Given the description of an element on the screen output the (x, y) to click on. 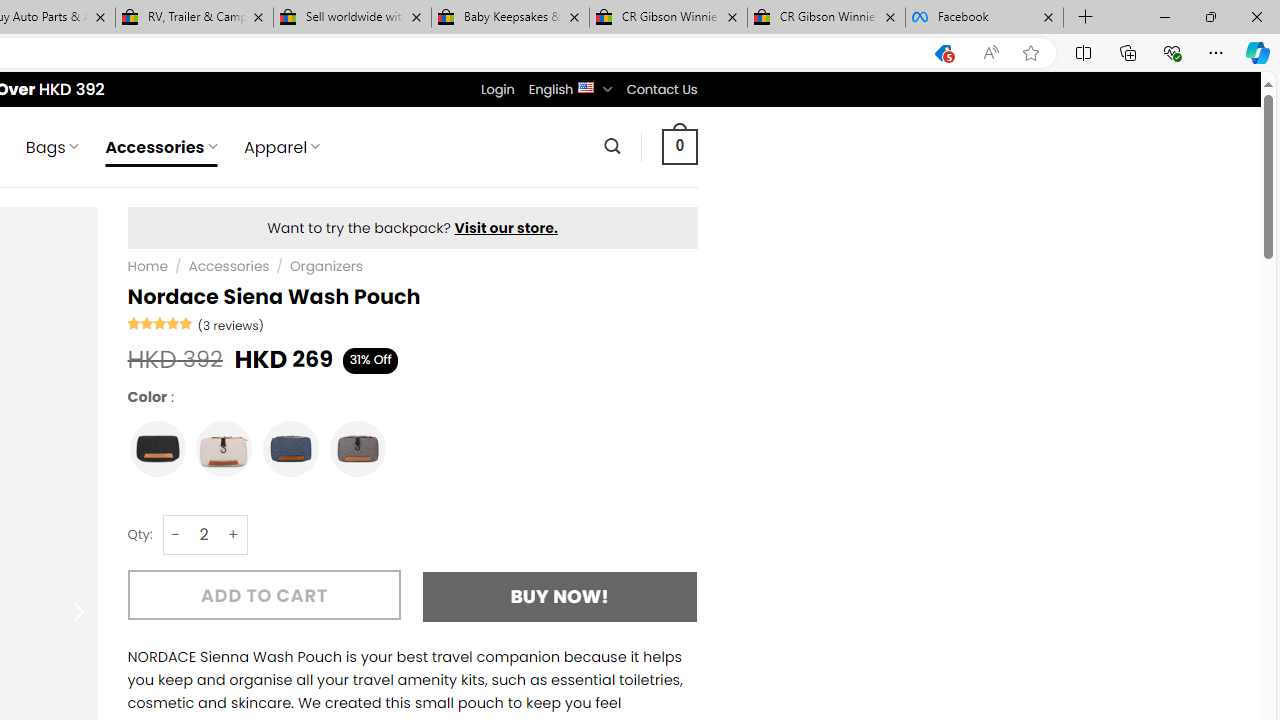
Organizers (326, 267)
BUY NOW! (559, 596)
Visit our store. (506, 228)
Sell worldwide with eBay (352, 17)
(3 reviews) (230, 324)
Read aloud this page (Ctrl+Shift+U) (991, 53)
Baby Keepsakes & Announcements for sale | eBay (509, 17)
+ (234, 534)
RV, Trailer & Camper Steps & Ladders for sale | eBay (194, 17)
Contact Us (661, 89)
Rated 5.00 out of 5 (160, 322)
English (586, 86)
